Given the description of an element on the screen output the (x, y) to click on. 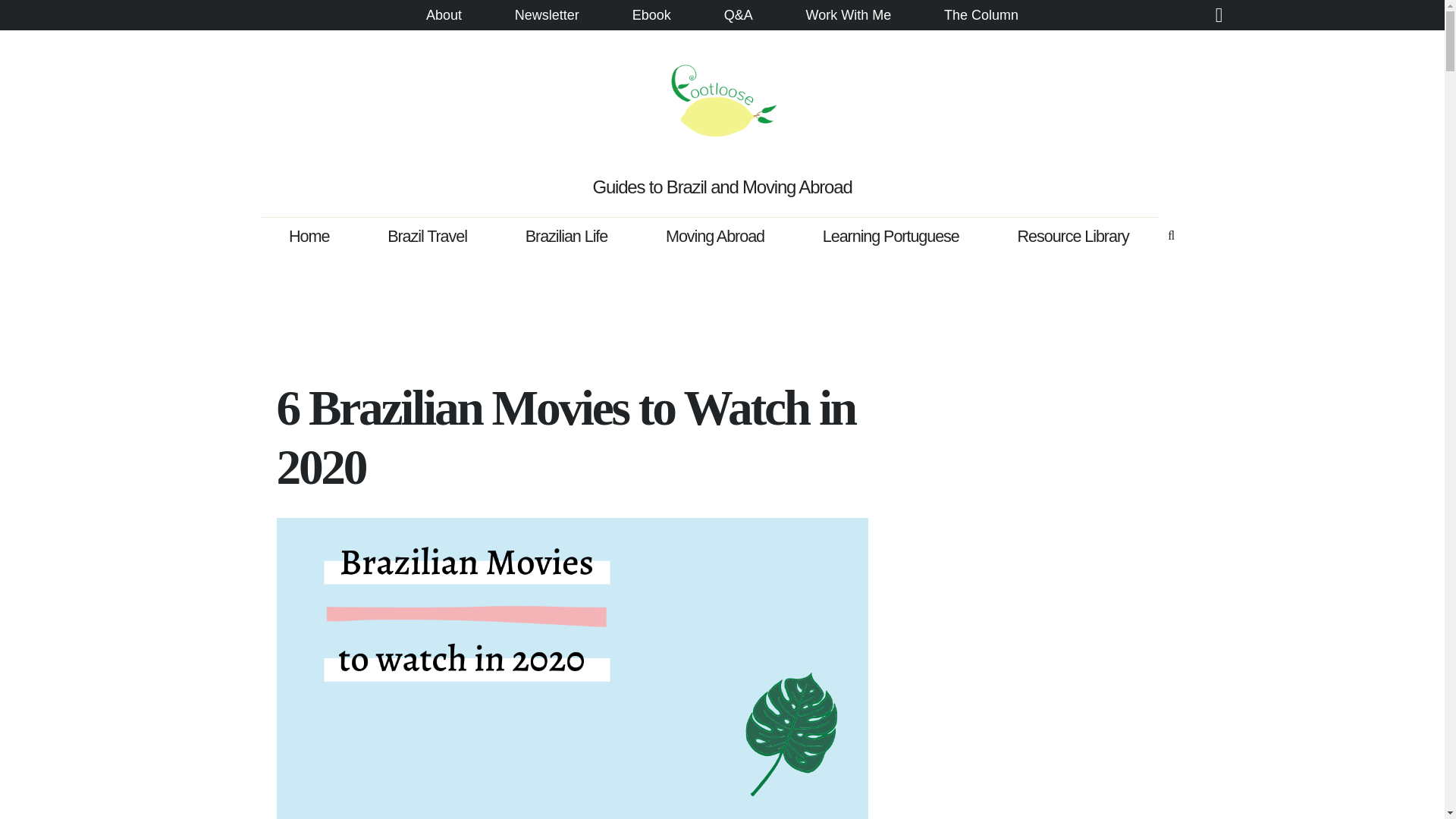
Resource Library (1072, 235)
About (443, 17)
The Column (980, 17)
Moving Abroad (715, 235)
Learning Portuguese (890, 235)
Ebook (651, 17)
Home (309, 235)
Brazil Travel (427, 235)
Newsletter (546, 17)
Brazilian Life (566, 235)
